Given the description of an element on the screen output the (x, y) to click on. 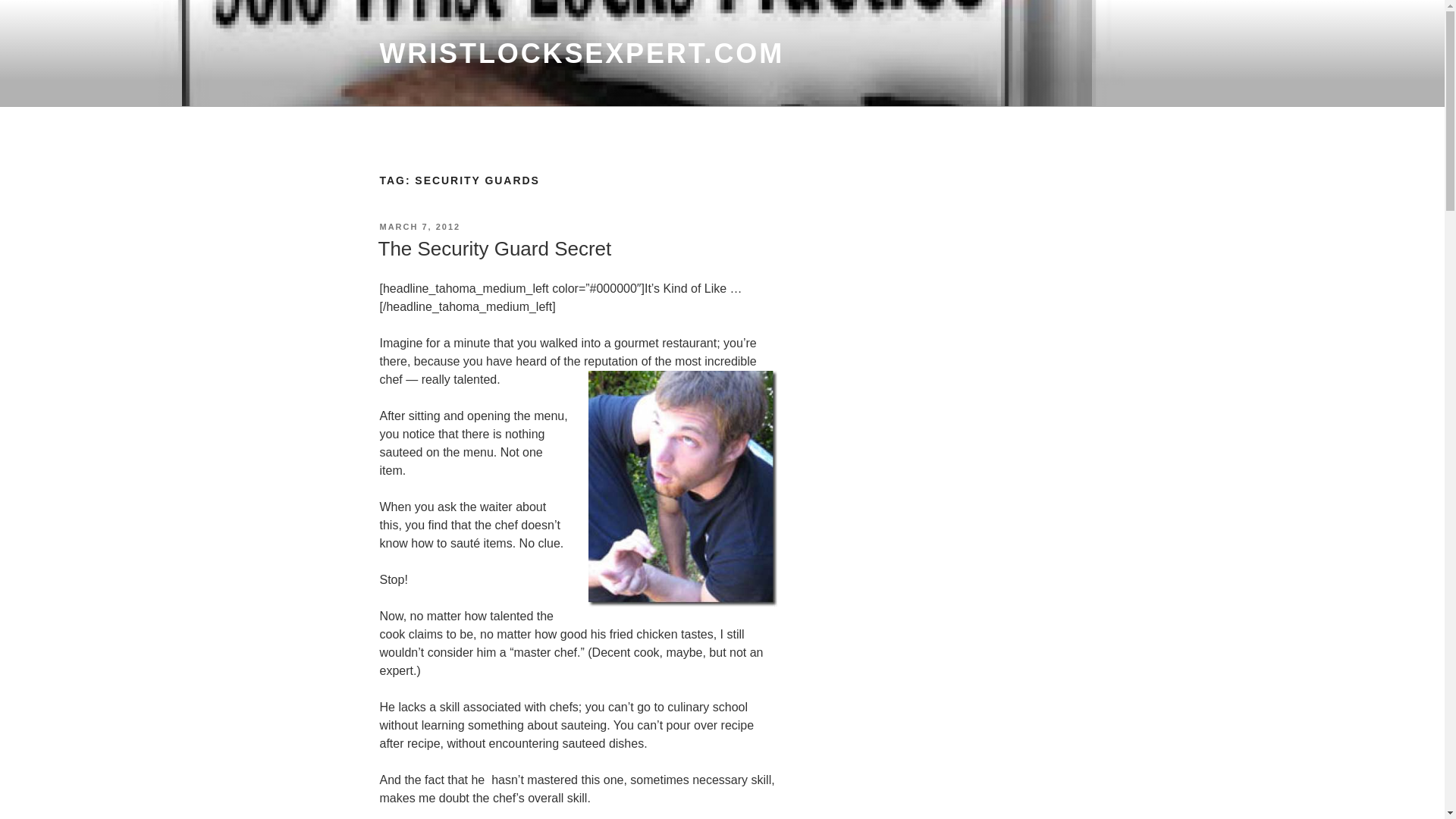
MARCH 7, 2012 (419, 225)
The Security Guard Secret (494, 248)
WRISTLOCKSEXPERT.COM (581, 52)
